Given the description of an element on the screen output the (x, y) to click on. 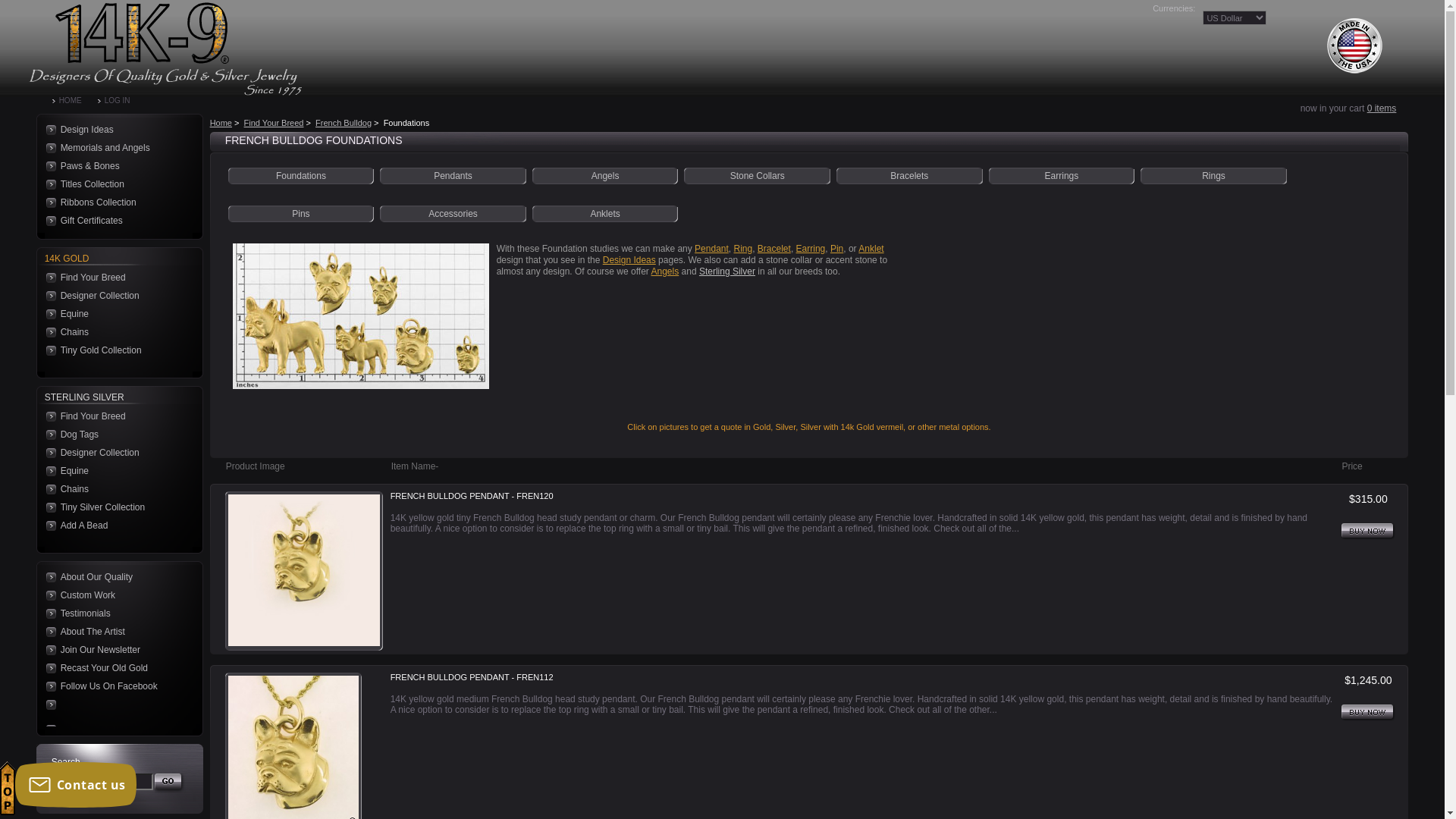
Chains Element type: text (115, 332)
Titles Collection Element type: text (115, 184)
Tiny Gold Collection Element type: text (115, 350)
Chains Element type: text (115, 489)
Item Name- Element type: text (415, 466)
Sterling Silver Element type: text (727, 271)
Designer Collection Element type: text (115, 295)
Design Ideas Element type: text (628, 259)
French Bulldog Element type: text (343, 122)
Equine Element type: text (115, 313)
Memorials and Angels Element type: text (115, 147)
Recast Your Old Gold Element type: text (115, 668)
FRENCH BULLDOG PENDANT - FREN120 Element type: text (471, 496)
Find Your Breed Element type: text (274, 122)
Ring Element type: text (743, 248)
Custom Work Element type: text (115, 595)
 Buy Now  Element type: hover (1367, 531)
Earrings Element type: text (1061, 175)
Foundations Element type: text (301, 175)
Anklets Element type: text (604, 213)
Anklet Element type: text (870, 248)
Bracelets Element type: text (909, 175)
0 items Element type: text (1381, 108)
Contact us Element type: text (75, 784)
Stone Collars Element type: text (757, 175)
Home Element type: text (221, 122)
 Buy Now  Element type: hover (1367, 712)
About Our Quality Element type: text (115, 577)
Advanced Search Element type: text (84, 801)
Ribbons Collection Element type: text (115, 202)
Testimonials Element type: text (115, 613)
About The Artist Element type: text (115, 631)
Designer Collection Element type: text (115, 452)
Design Ideas Element type: text (115, 129)
Accessories Element type: text (452, 213)
Bracelet Element type: text (773, 248)
Join Our Newsletter Element type: text (115, 649)
Gift Certificates Element type: text (115, 220)
Find Your Breed Element type: text (115, 277)
Angels Element type: text (605, 175)
Pins Element type: text (300, 213)
Find Your Breed Element type: text (115, 416)
 Search  Element type: hover (169, 783)
Rings Element type: text (1213, 175)
Angels Element type: text (665, 271)
FRENCH BULLDOG PENDANT - FREN112 Element type: text (471, 677)
Tiny Silver Collection Element type: text (115, 507)
Earring Element type: text (810, 248)
 French Bulldog Pendant - FREN120  Element type: hover (303, 570)
Pin Element type: text (836, 248)
Follow Us On Facebook Element type: text (115, 686)
Add A Bead Element type: text (115, 525)
HOME Element type: text (74, 100)
Pendant Element type: text (711, 248)
Pendants Element type: text (452, 175)
Equine Element type: text (115, 470)
LOG IN Element type: text (121, 100)
Price Element type: text (1351, 466)
Dog Tags Element type: text (115, 434)
Paws & Bones Element type: text (115, 166)
